Given the description of an element on the screen output the (x, y) to click on. 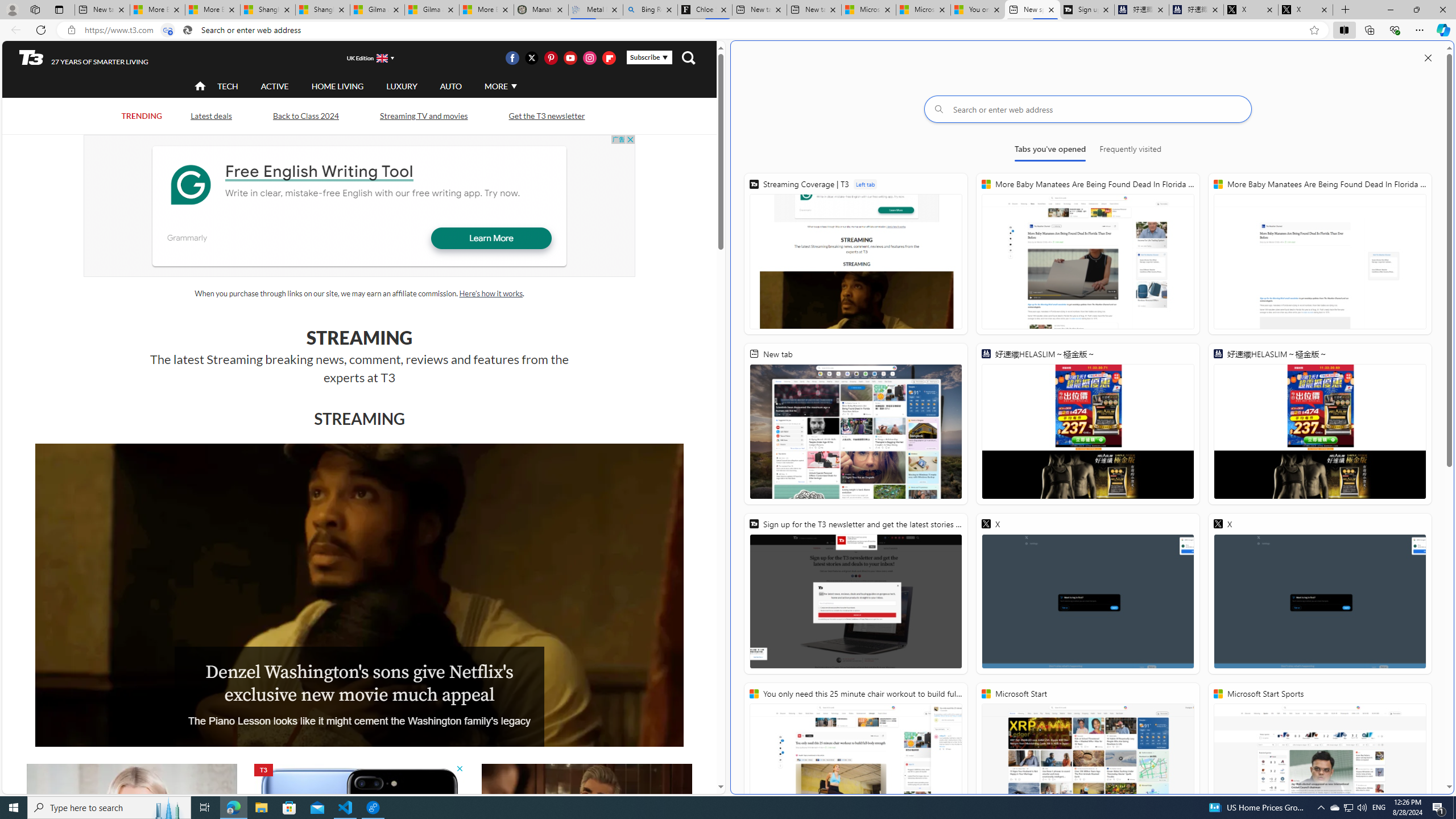
T3 27 YEARS OF SMARTER LIVING (83, 57)
HOME LIVING (337, 86)
Frequently visited (1130, 151)
Visit us on Twitter (531, 57)
LUXURY (401, 85)
The Piano Lesson (359, 594)
